Given the description of an element on the screen output the (x, y) to click on. 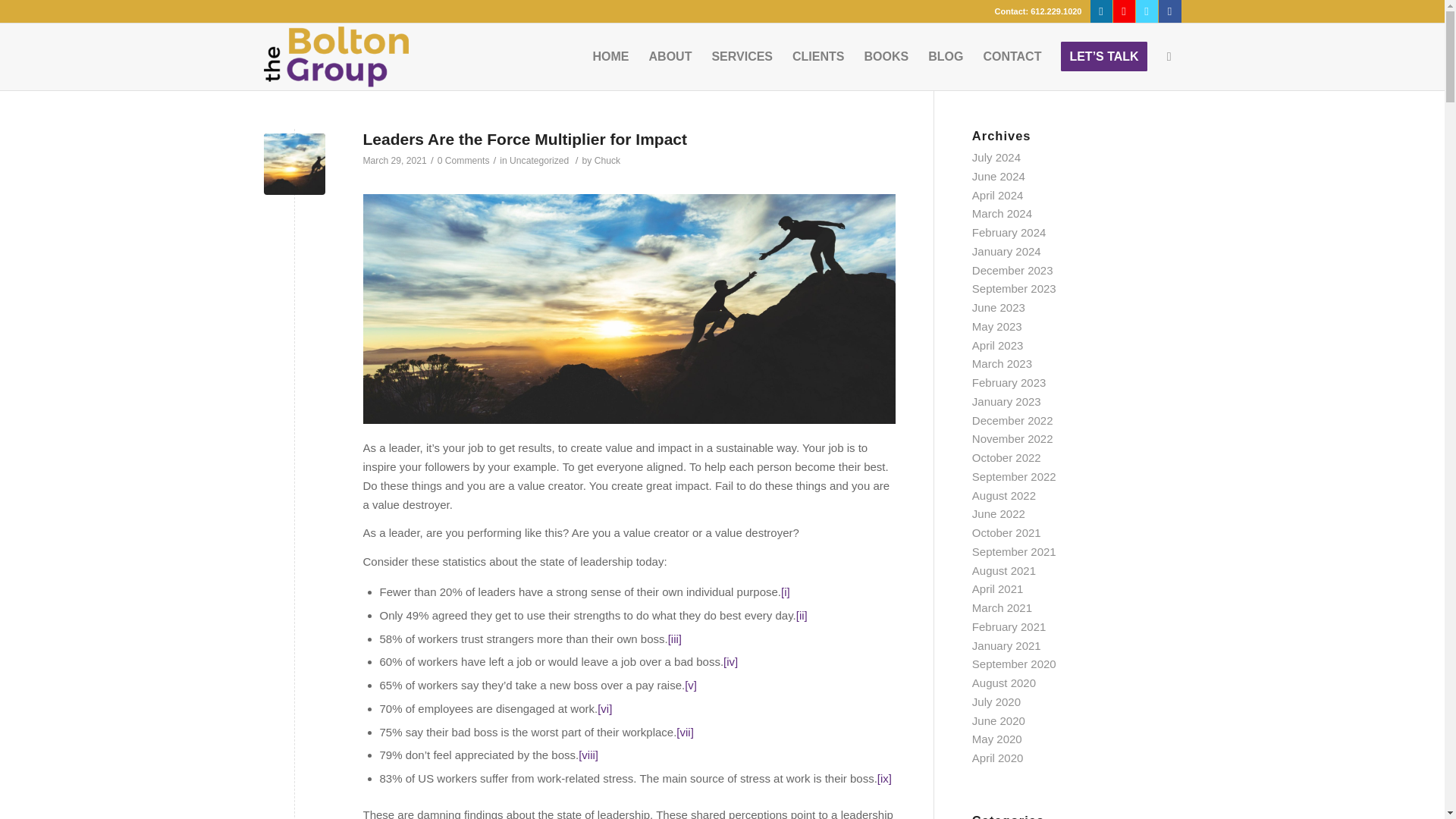
HOME (611, 56)
612.229.1020 (1055, 10)
0 Comments (463, 160)
Chuck (607, 160)
Twitter (1146, 11)
Permanent Link: Leaders Are the Force Multiplier for Impact (524, 139)
Posts by Chuck (607, 160)
ABOUT (670, 56)
BOOKS (885, 56)
Youtube (1124, 11)
SERVICES (742, 56)
Leaders Are the Force Multiplier for Impact (293, 163)
Facebook (1169, 11)
Leaders Are the Force Multiplier for Impact (524, 139)
Uncategorized (539, 160)
